Given the description of an element on the screen output the (x, y) to click on. 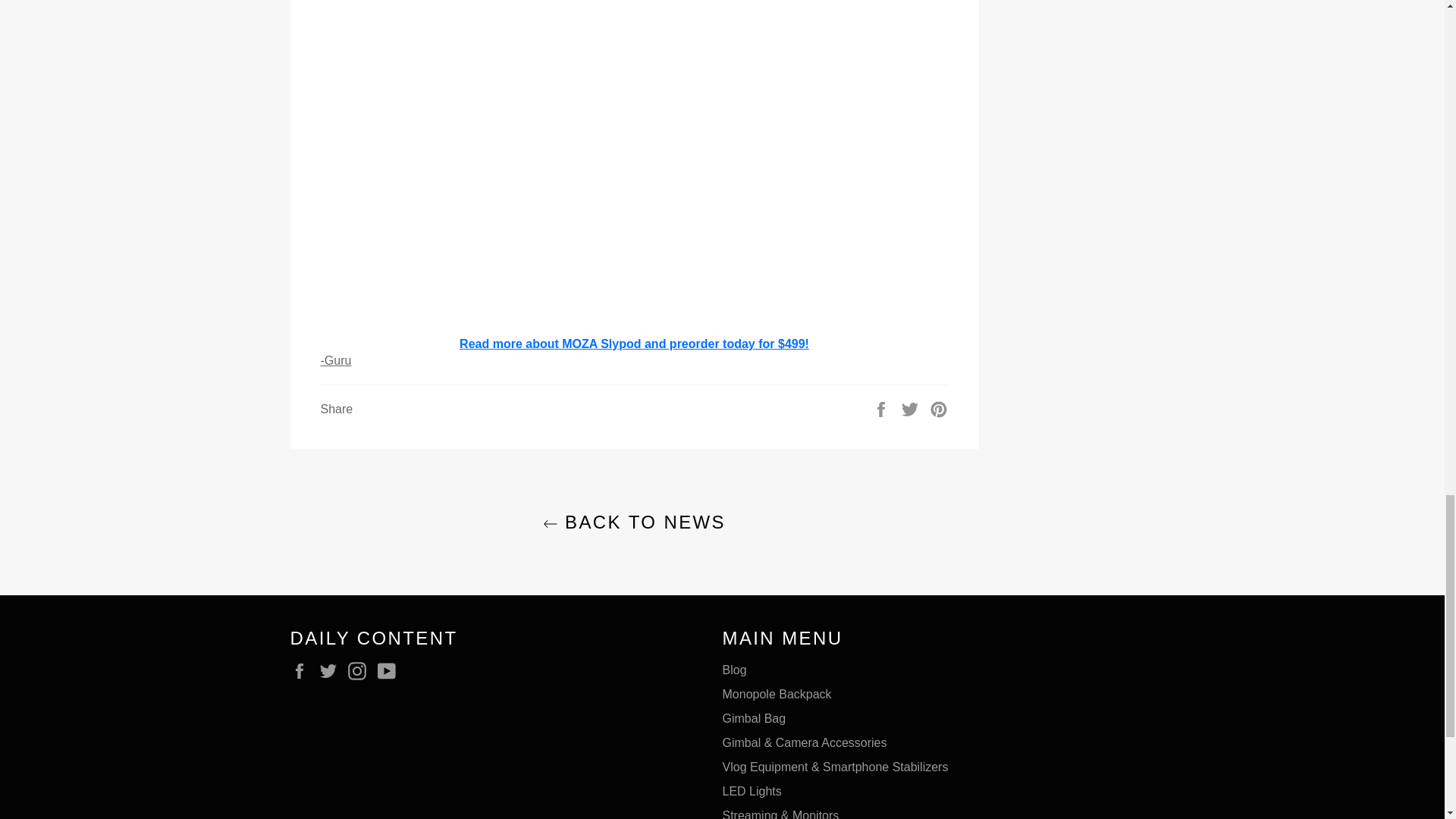
Gimbal Guru on Facebook (302, 670)
Gimbal Guru on Instagram (360, 670)
Gimbal Guru on Twitter (331, 670)
Gimbal Guru on YouTube (390, 670)
Share on Facebook (882, 408)
Pin on Pinterest (938, 408)
Tweet on Twitter (911, 408)
